Given the description of an element on the screen output the (x, y) to click on. 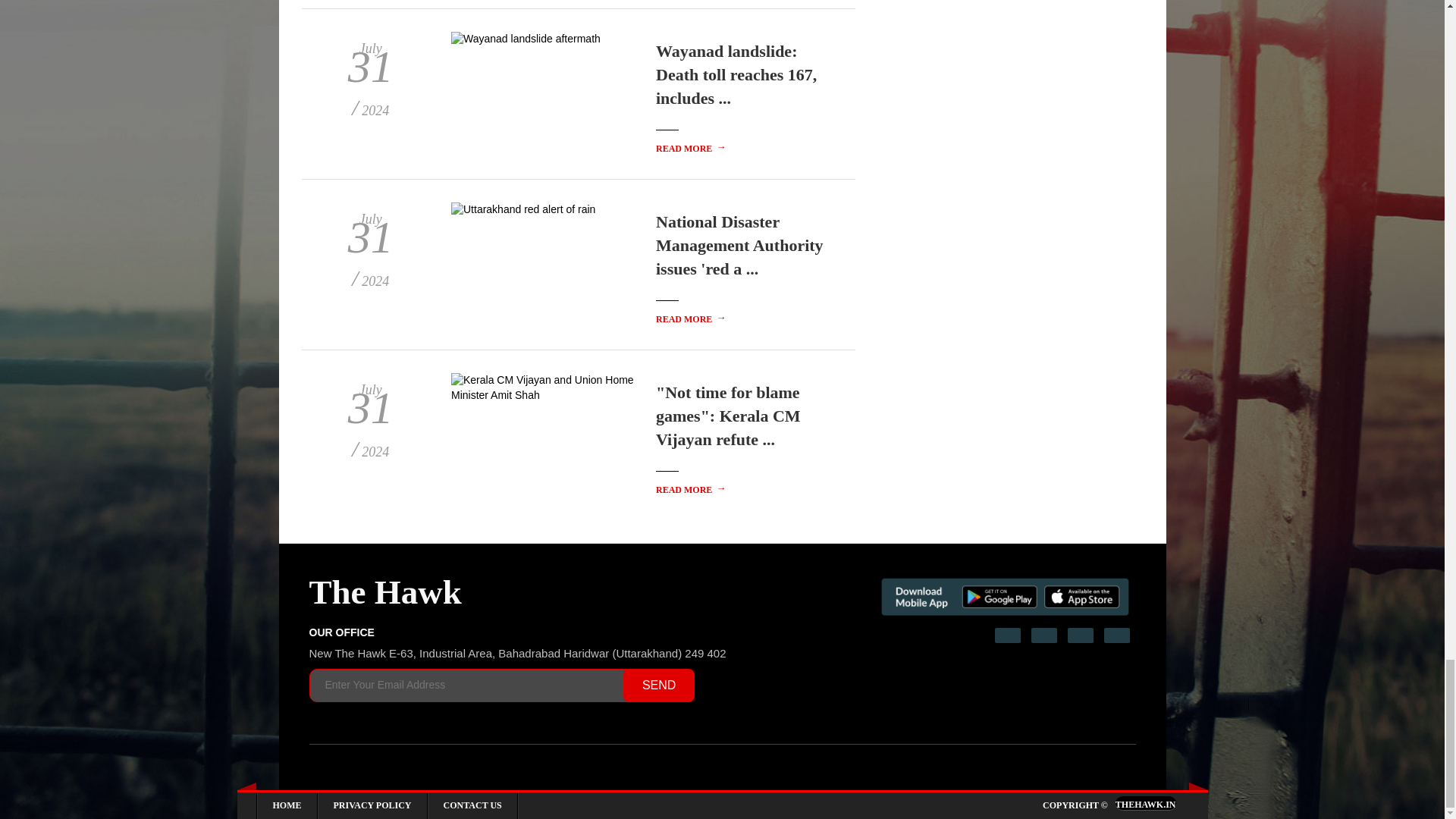
Wayanad landslide: Death toll reaches 167, includes ... (736, 74)
Send (658, 685)
National Disaster Management Authority issues 'red a ... (740, 245)
